Given the description of an element on the screen output the (x, y) to click on. 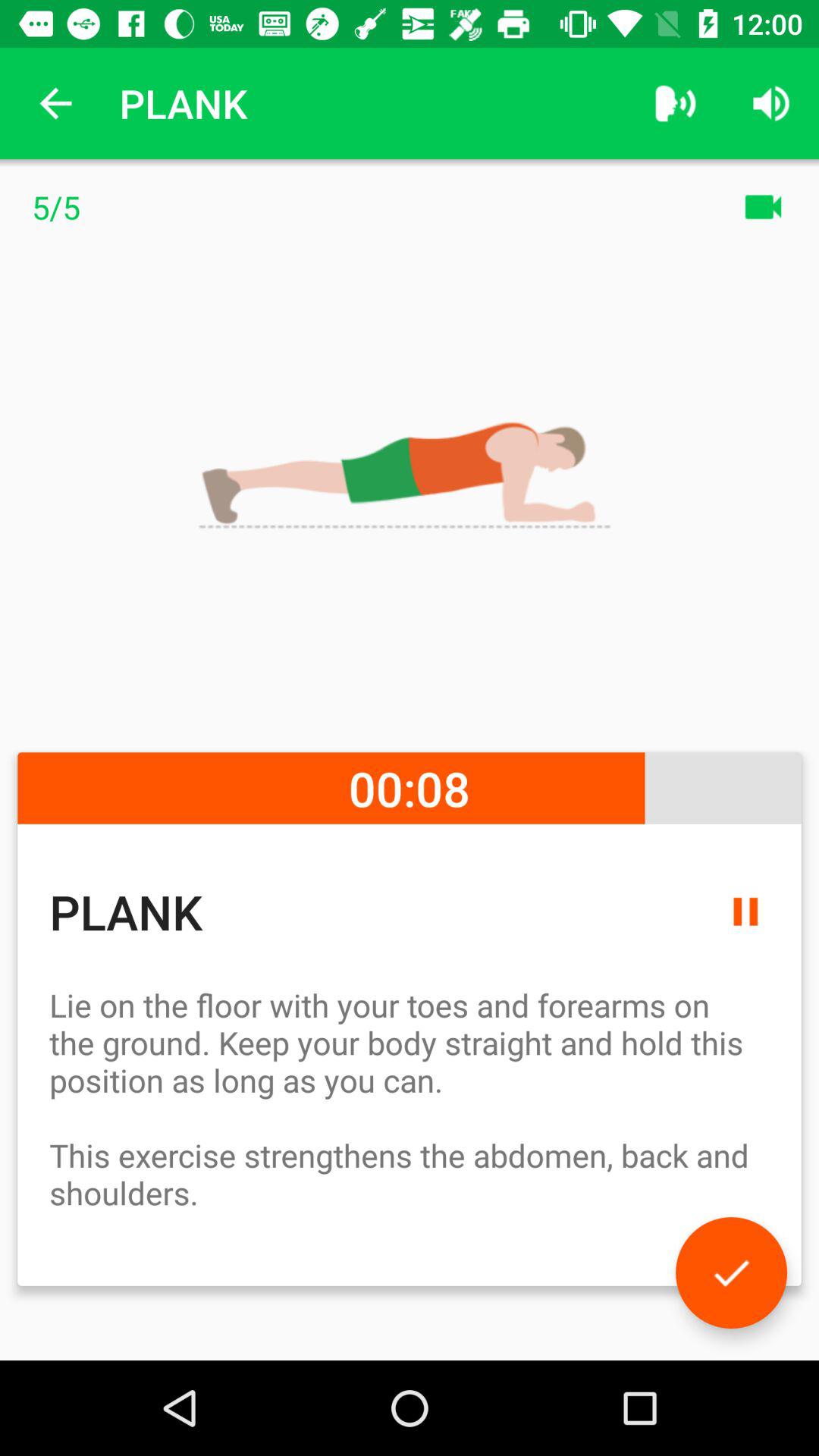
click item to the right of plank icon (675, 103)
